Given the description of an element on the screen output the (x, y) to click on. 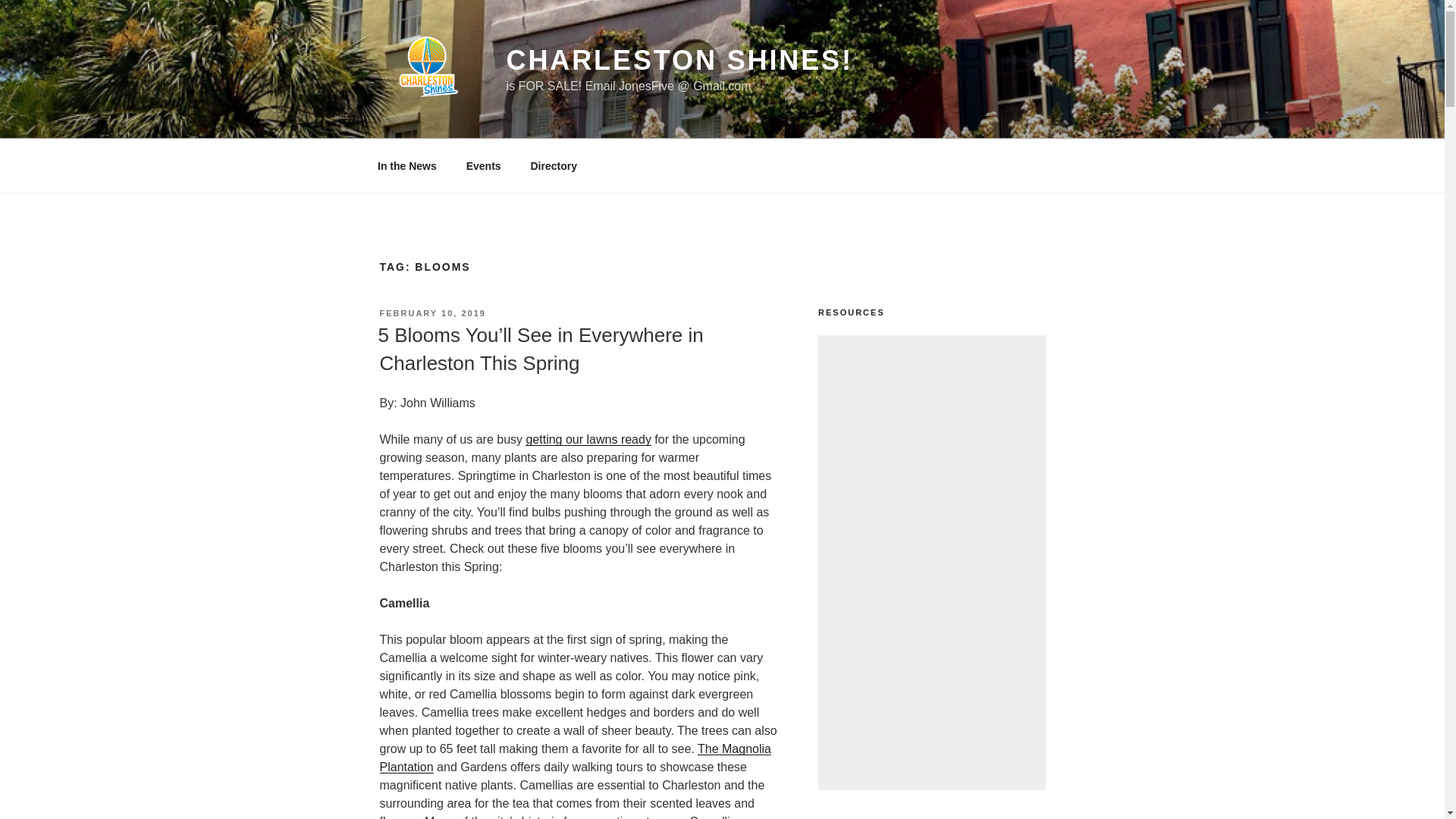
The Magnolia Plantation (574, 757)
getting our lawns ready (587, 439)
Events (482, 165)
Directory (552, 165)
CHARLESTON SHINES! (679, 60)
In the News (406, 165)
FEBRUARY 10, 2019 (431, 312)
